Given the description of an element on the screen output the (x, y) to click on. 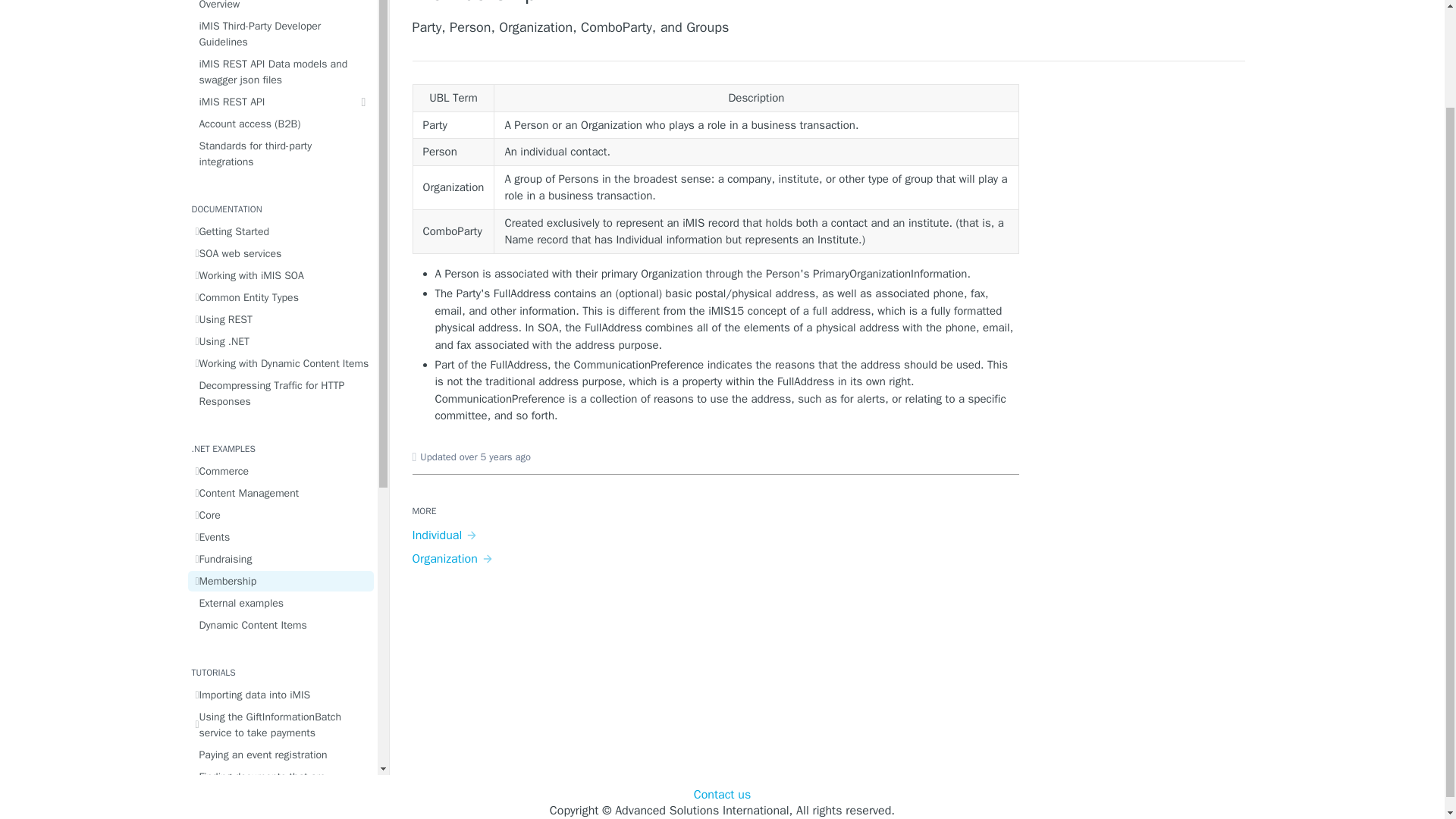
iMIS Third-Party Developer Guidelines (280, 33)
iMIS REST API Data models and swagger json files (280, 72)
iMIS REST API (280, 101)
Getting Started (280, 231)
Standards for third-party integrations (280, 153)
SOA web services (280, 253)
Working with iMIS SOA (280, 275)
Overview (280, 7)
